Given the description of an element on the screen output the (x, y) to click on. 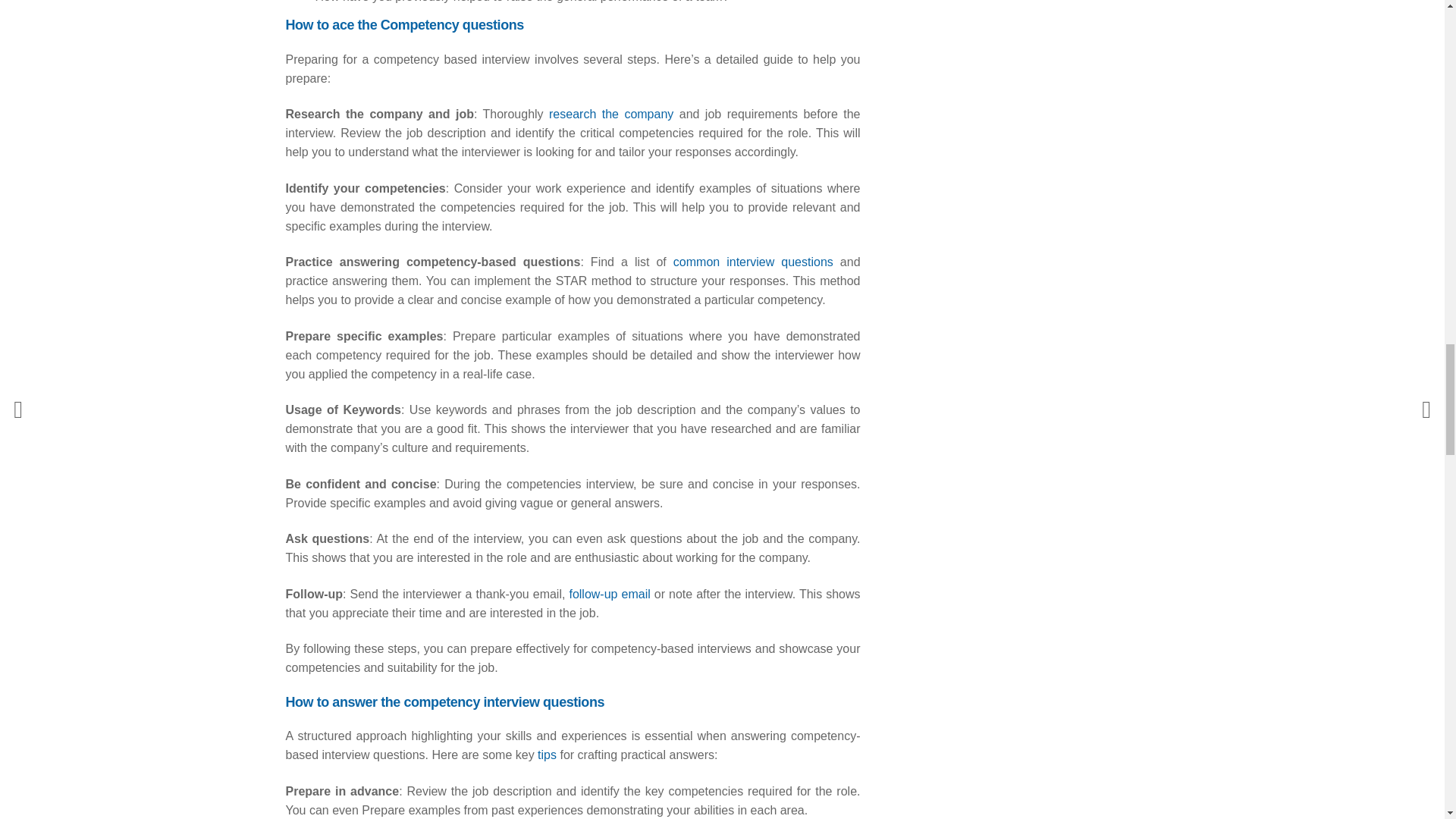
follow-up email (609, 594)
research the company (610, 113)
tips (546, 754)
common interview questions (752, 261)
